Given the description of an element on the screen output the (x, y) to click on. 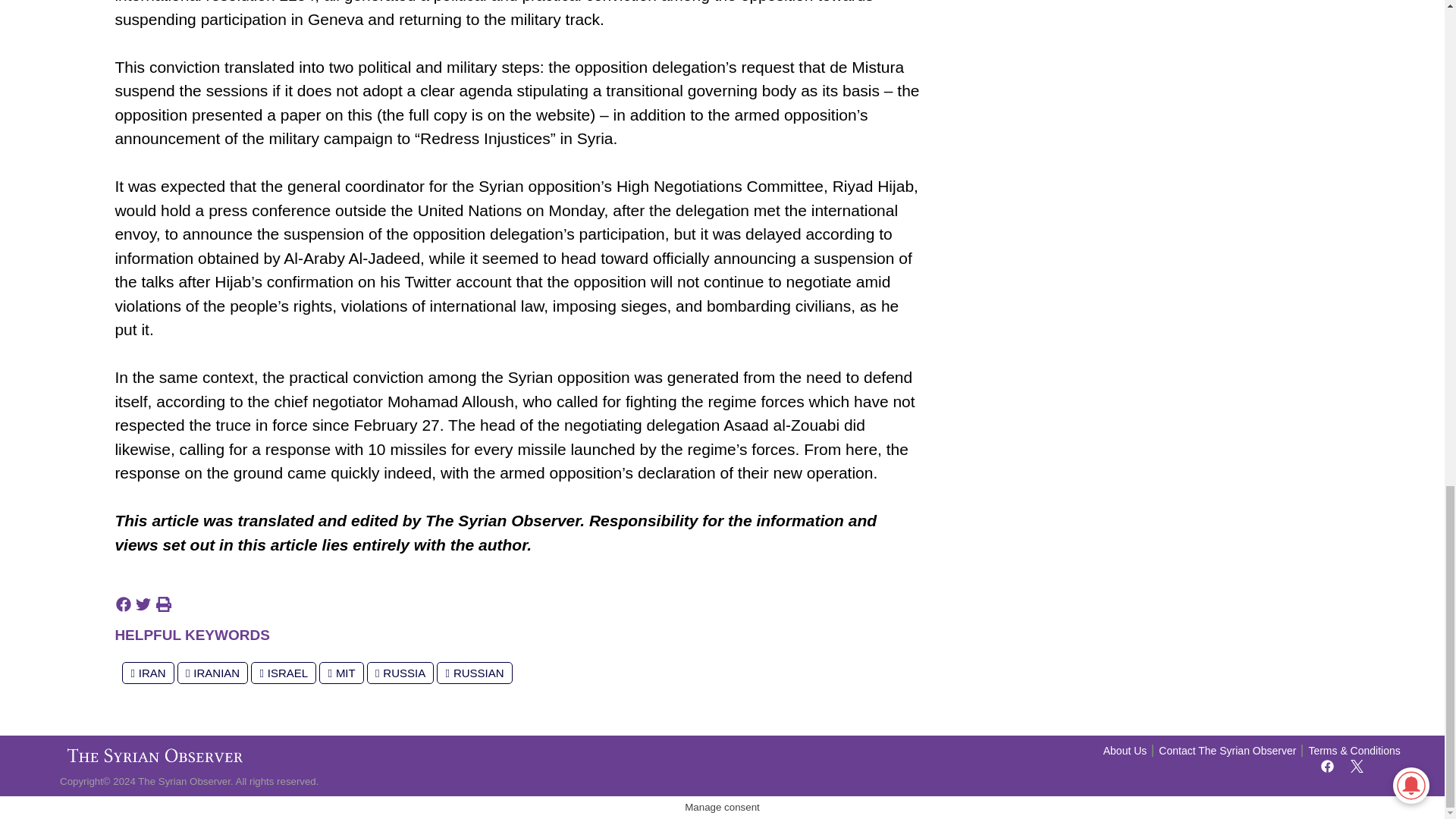
About Us (1125, 750)
RUSSIA (399, 672)
IRAN (147, 672)
ISRAEL (282, 672)
RUSSIAN (474, 672)
IRANIAN (212, 672)
MIT (340, 672)
Contact The Syrian Observer (1227, 750)
